Given the description of an element on the screen output the (x, y) to click on. 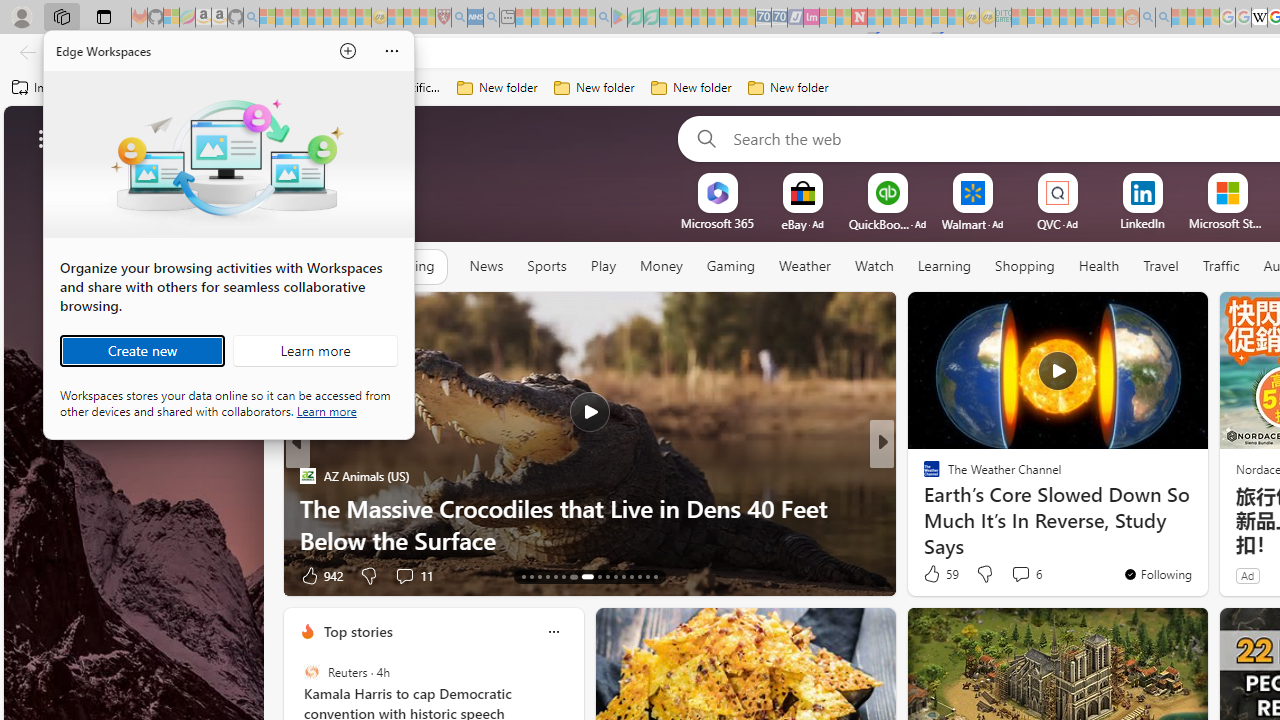
Pets - MSN - Sleeping (571, 17)
Giant Freakin Robot (923, 507)
View comments 11 Comment (1019, 575)
AutomationID: tab-28 (655, 576)
View comments 2 Comment (1026, 574)
Play (603, 267)
You're following The Weather Channel (1157, 573)
63 Like (934, 574)
360 Like (320, 574)
